Given the description of an element on the screen output the (x, y) to click on. 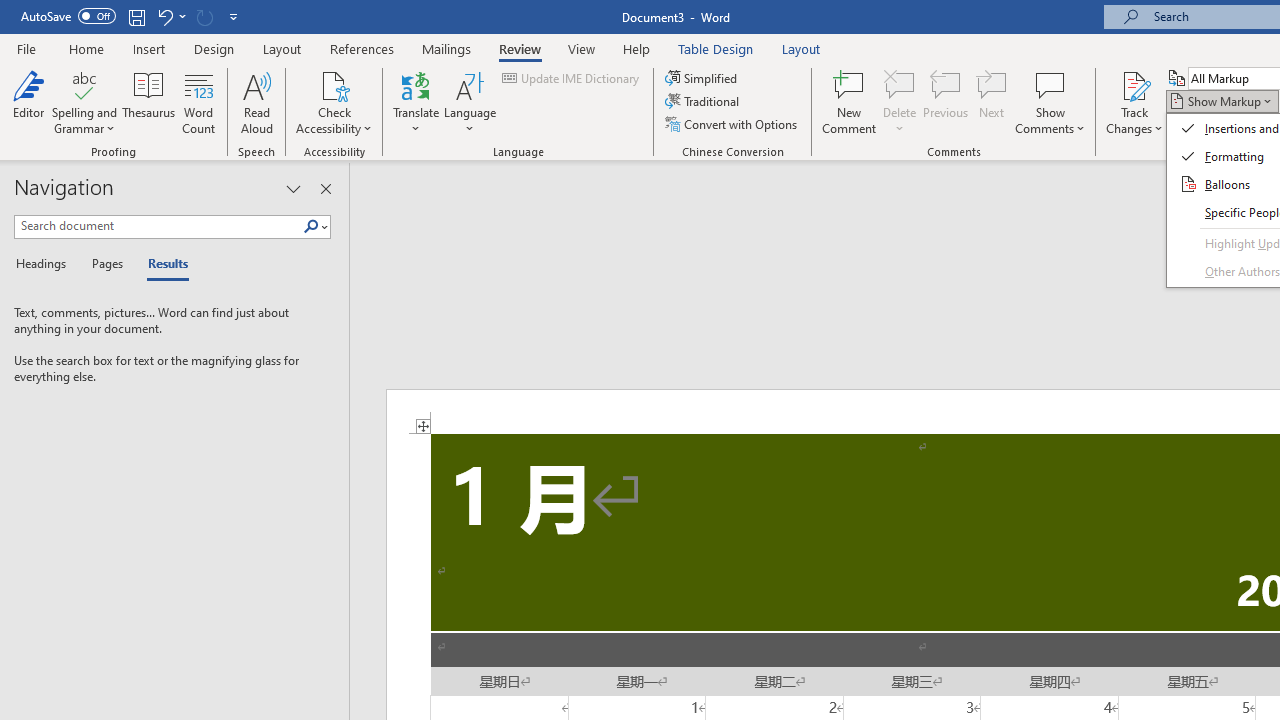
Track Changes (1134, 102)
Convert with Options... (732, 124)
